Given the description of an element on the screen output the (x, y) to click on. 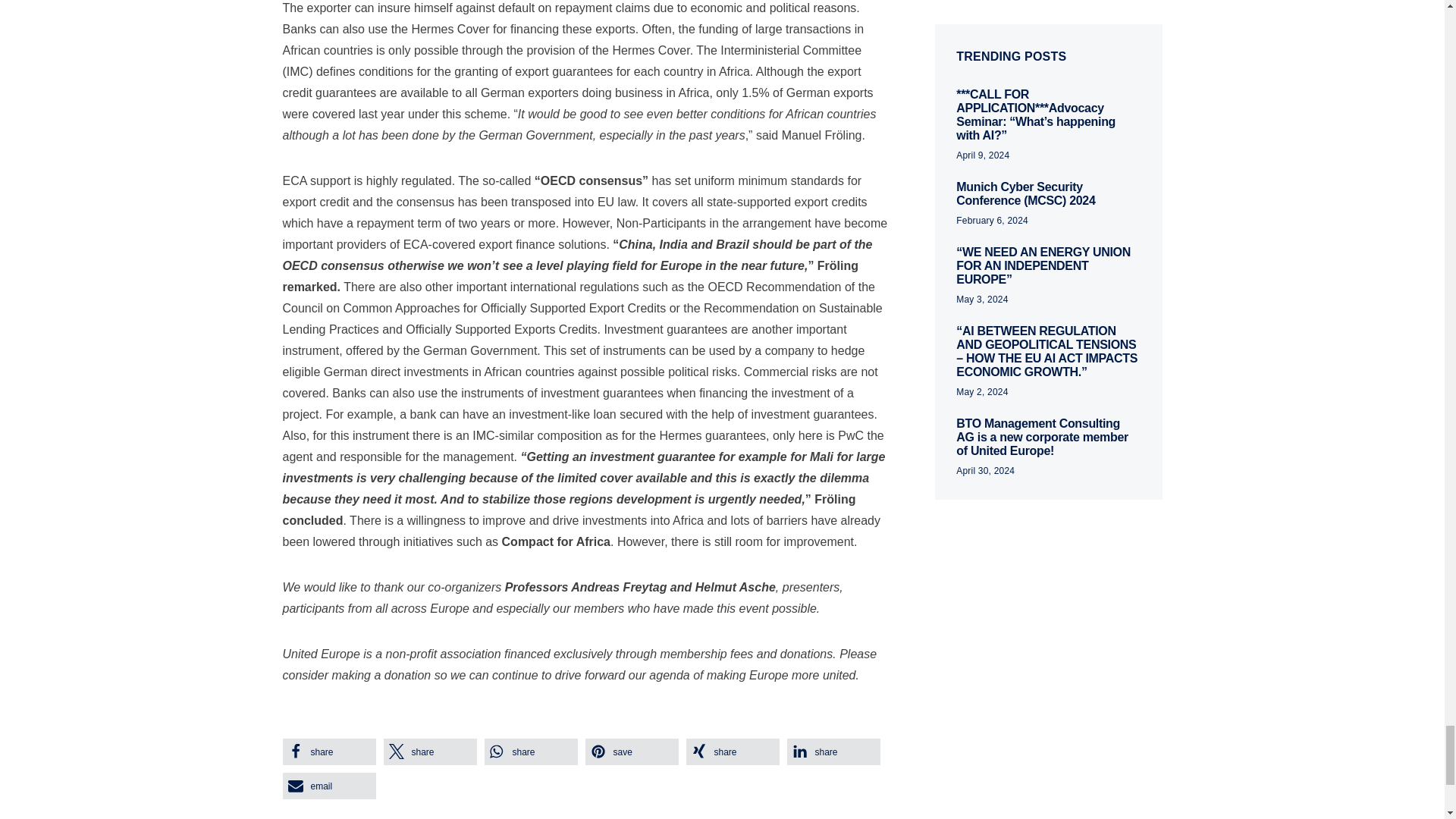
Share on LinkedIn (833, 751)
Send by email (328, 786)
Pin it on Pinterest (631, 751)
Share on Facebook (328, 751)
Share on Whatsapp (529, 751)
Share on X (430, 751)
Share on XING (731, 751)
